Given the description of an element on the screen output the (x, y) to click on. 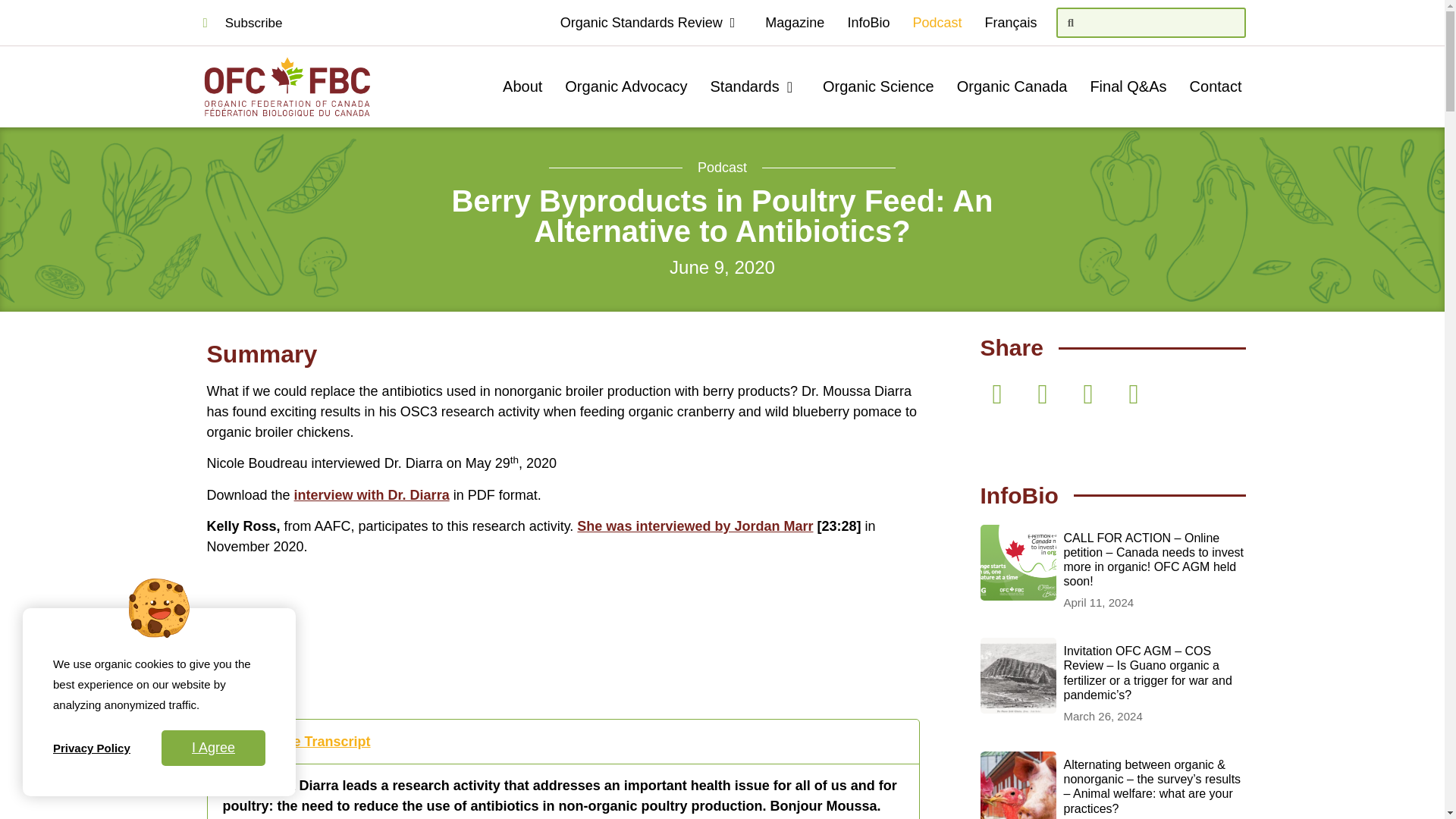
Subscribe (242, 22)
Podcast (936, 22)
Magazine (794, 22)
Organic Advocacy (625, 86)
About (522, 86)
Contact (1215, 86)
Standards (754, 86)
Organic Standards Review (651, 22)
InfoBio (868, 22)
Organic Canada (1011, 86)
Organic Science (877, 86)
